Given the description of an element on the screen output the (x, y) to click on. 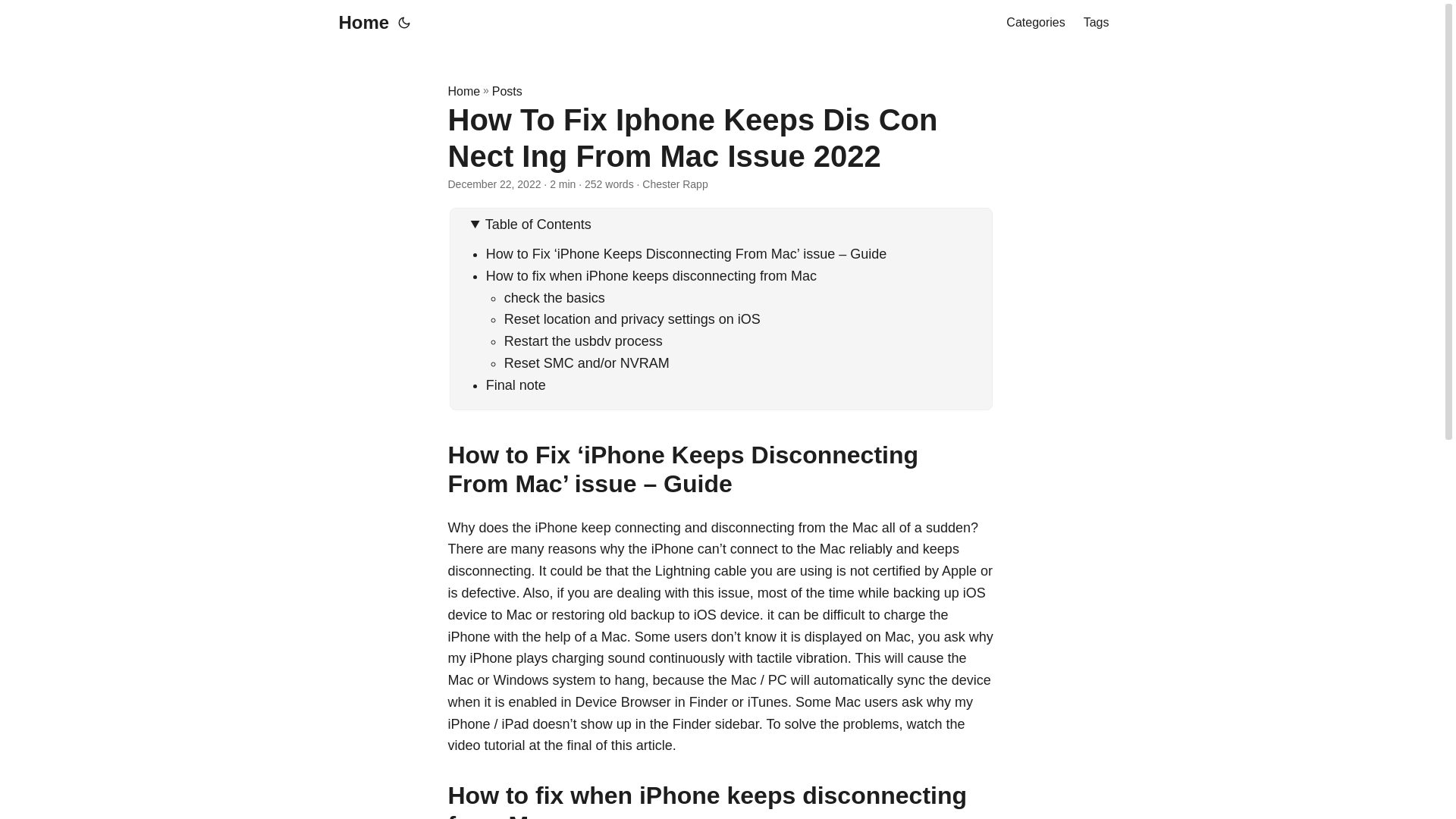
Final note (516, 385)
Reset location and privacy settings on iOS (631, 319)
check the basics (554, 297)
Categories (1035, 22)
Home (463, 91)
How to fix when iPhone keeps disconnecting from Mac (651, 275)
Categories (1035, 22)
Posts (507, 91)
Home (359, 22)
Restart the usbdv process (582, 340)
